Given the description of an element on the screen output the (x, y) to click on. 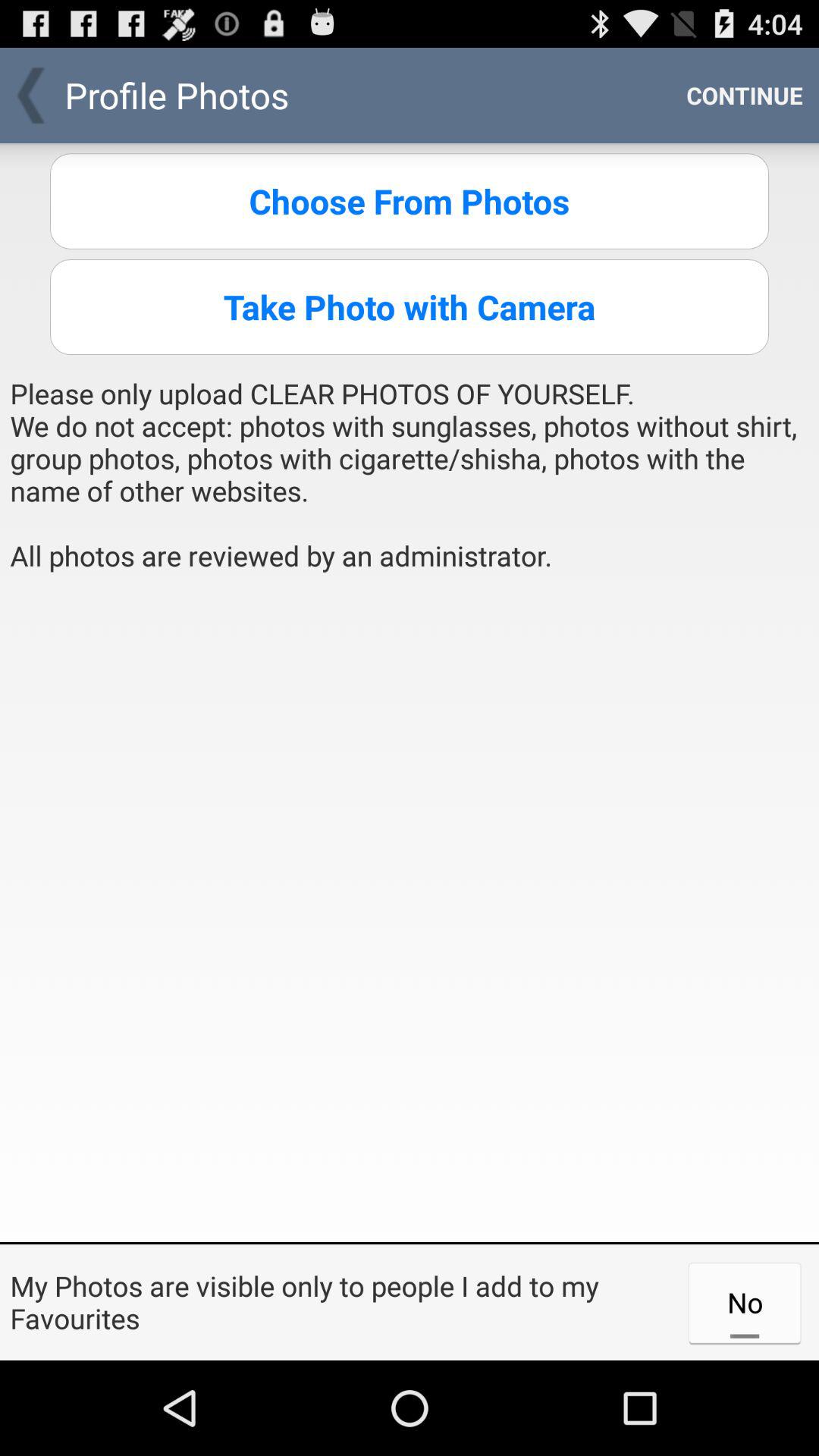
turn off the choose from photos icon (409, 201)
